Given the description of an element on the screen output the (x, y) to click on. 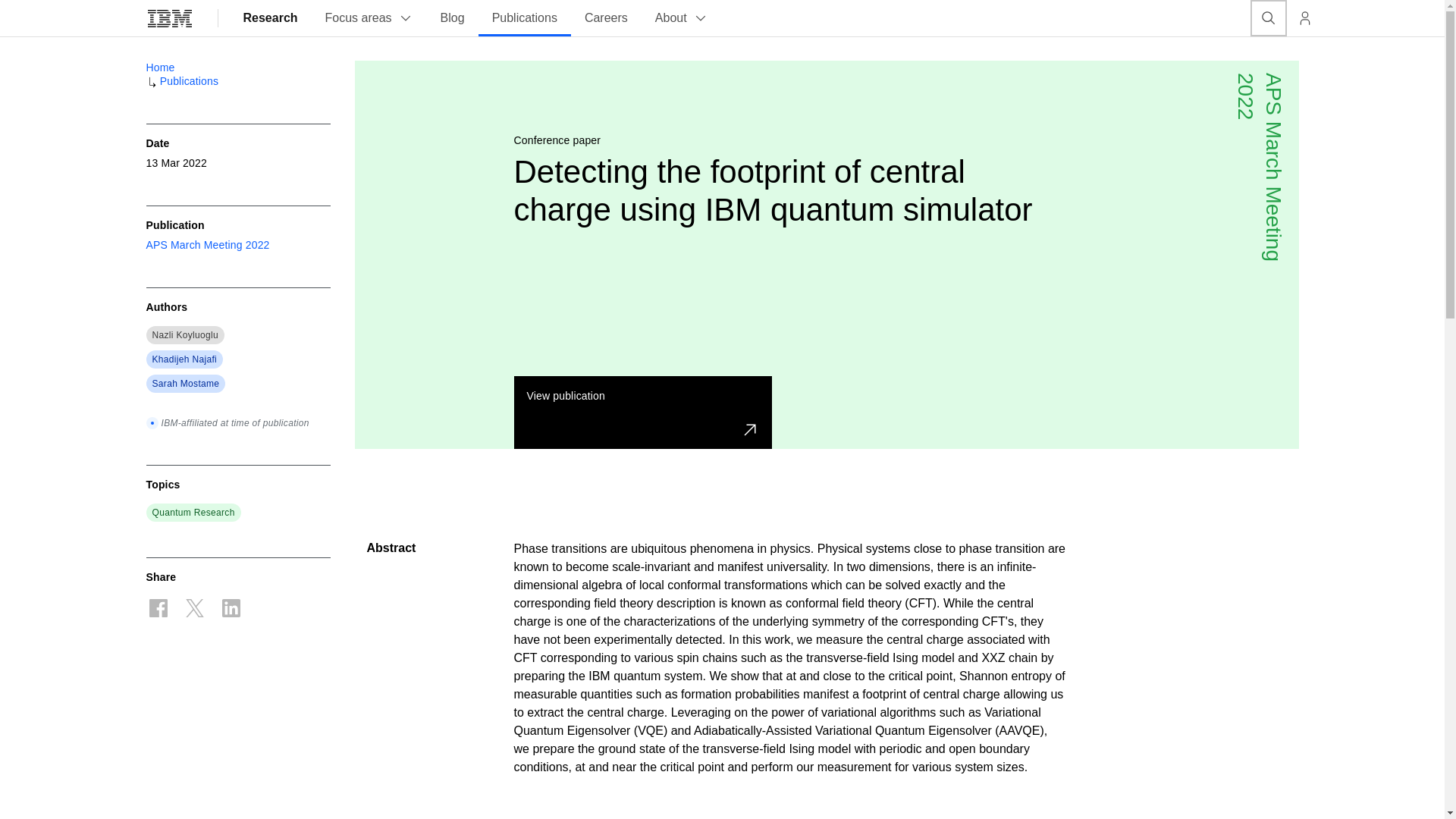
Khadijeh Najafi (183, 358)
Nazli Koyluoglu (184, 335)
Quantum Research (192, 512)
Sarah Mostame (185, 383)
